Given the description of an element on the screen output the (x, y) to click on. 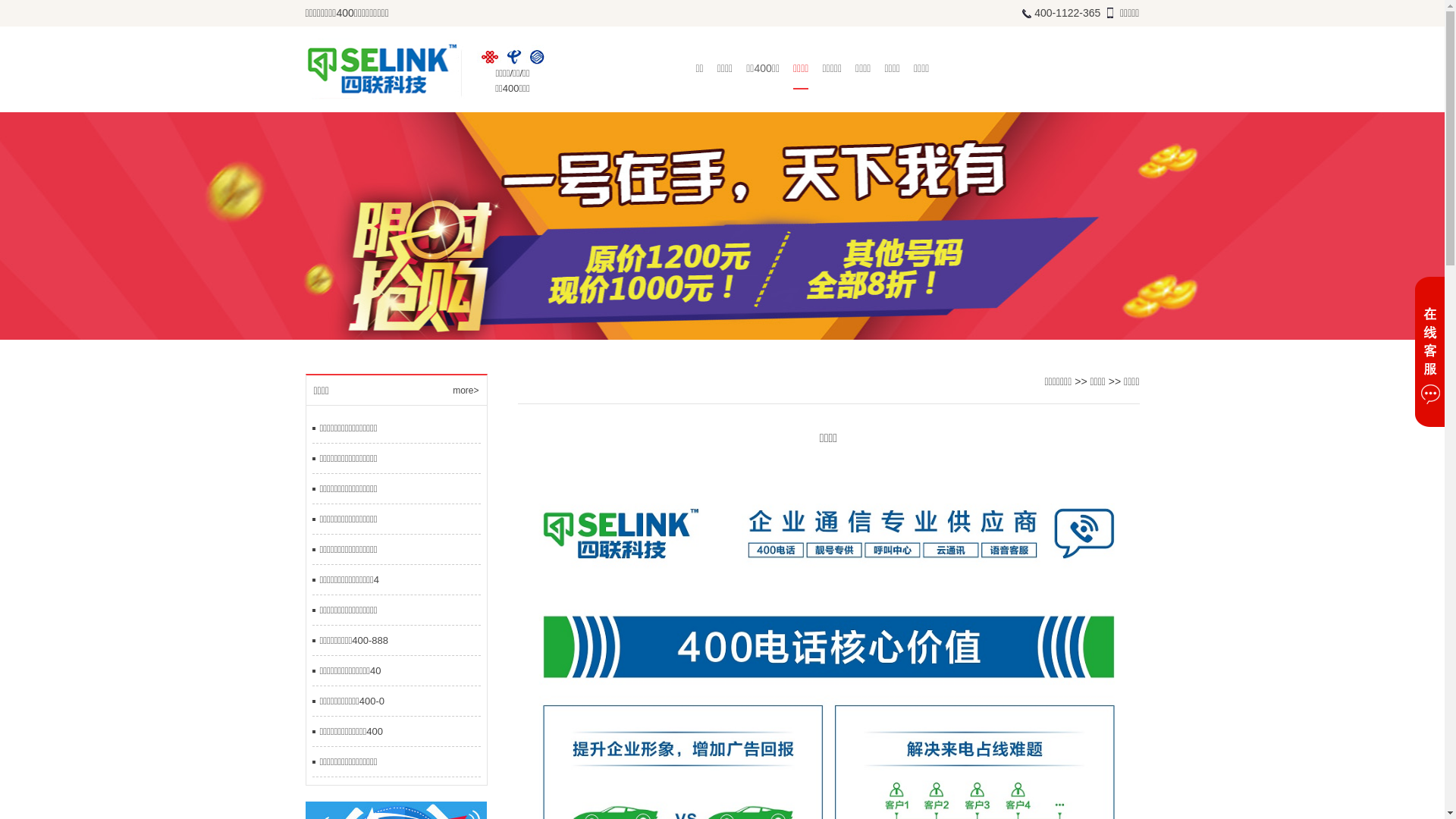
more> Element type: text (465, 390)
